Given the description of an element on the screen output the (x, y) to click on. 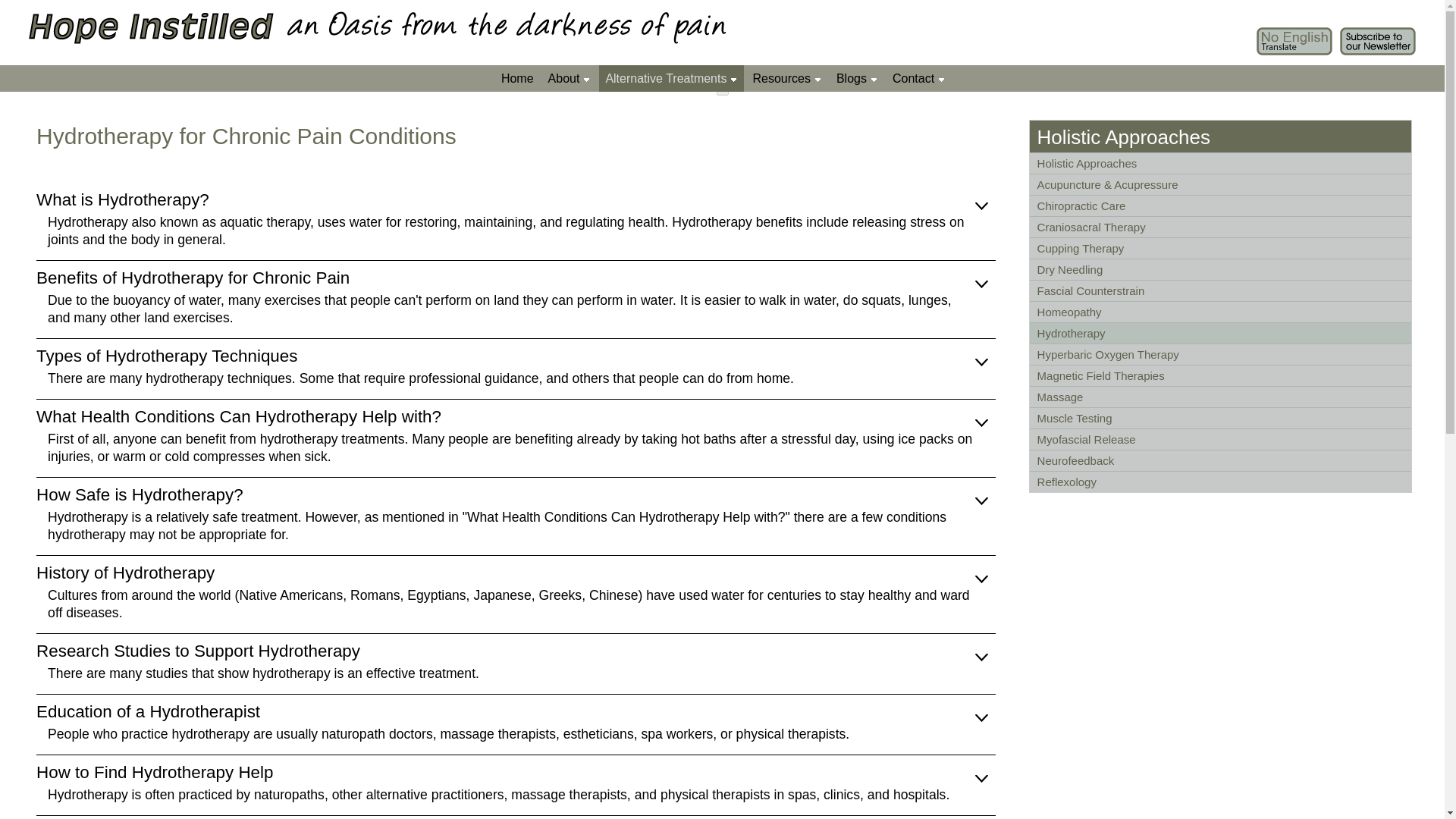
Hope Instilled - an oasis from the darkeness of pain (377, 25)
